Given the description of an element on the screen output the (x, y) to click on. 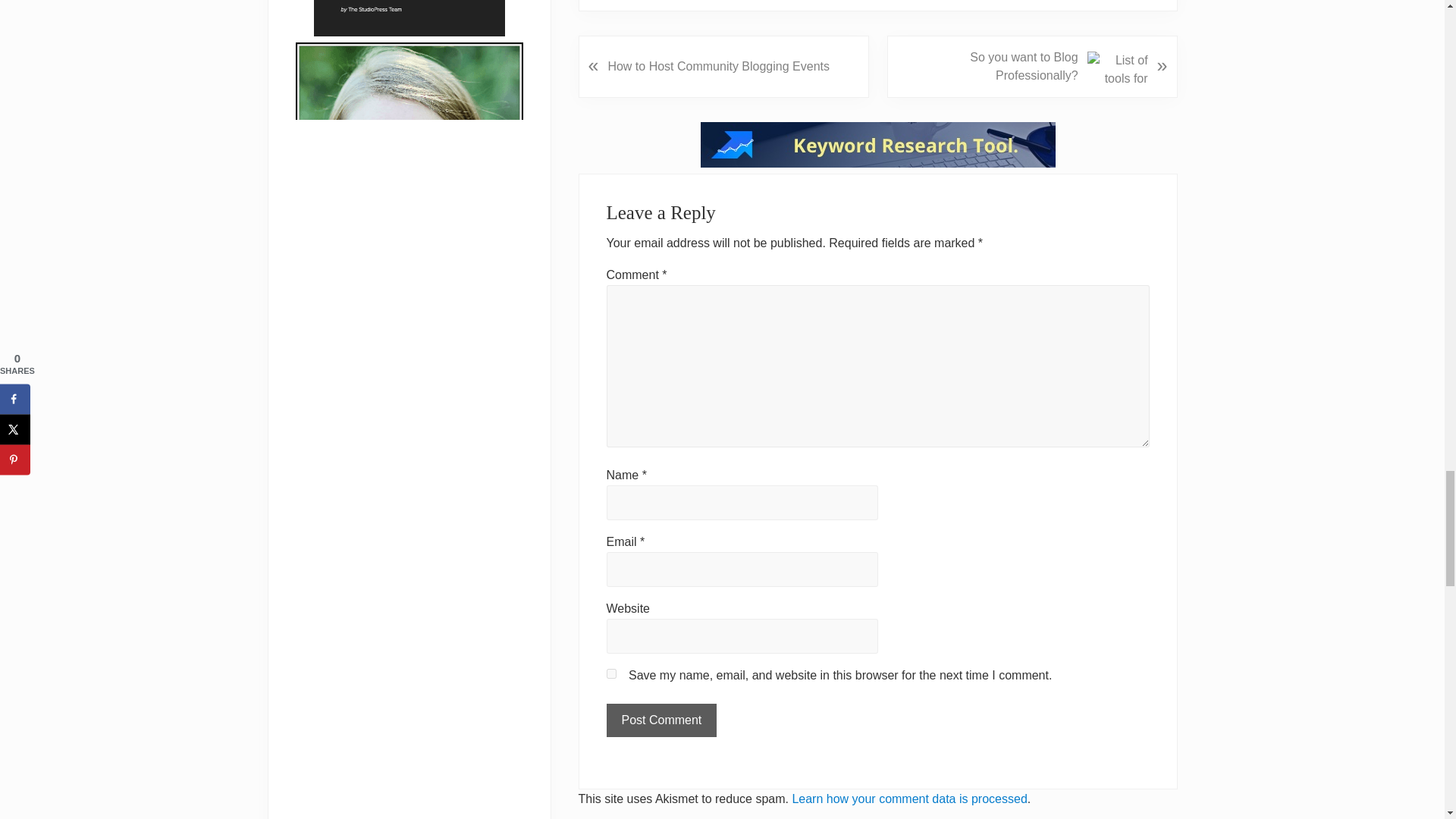
Post Comment (662, 720)
yes (611, 673)
Learn how your comment data is processed (909, 798)
Serpstat (877, 163)
About Kara (408, 164)
Post Comment (662, 720)
